Given the description of an element on the screen output the (x, y) to click on. 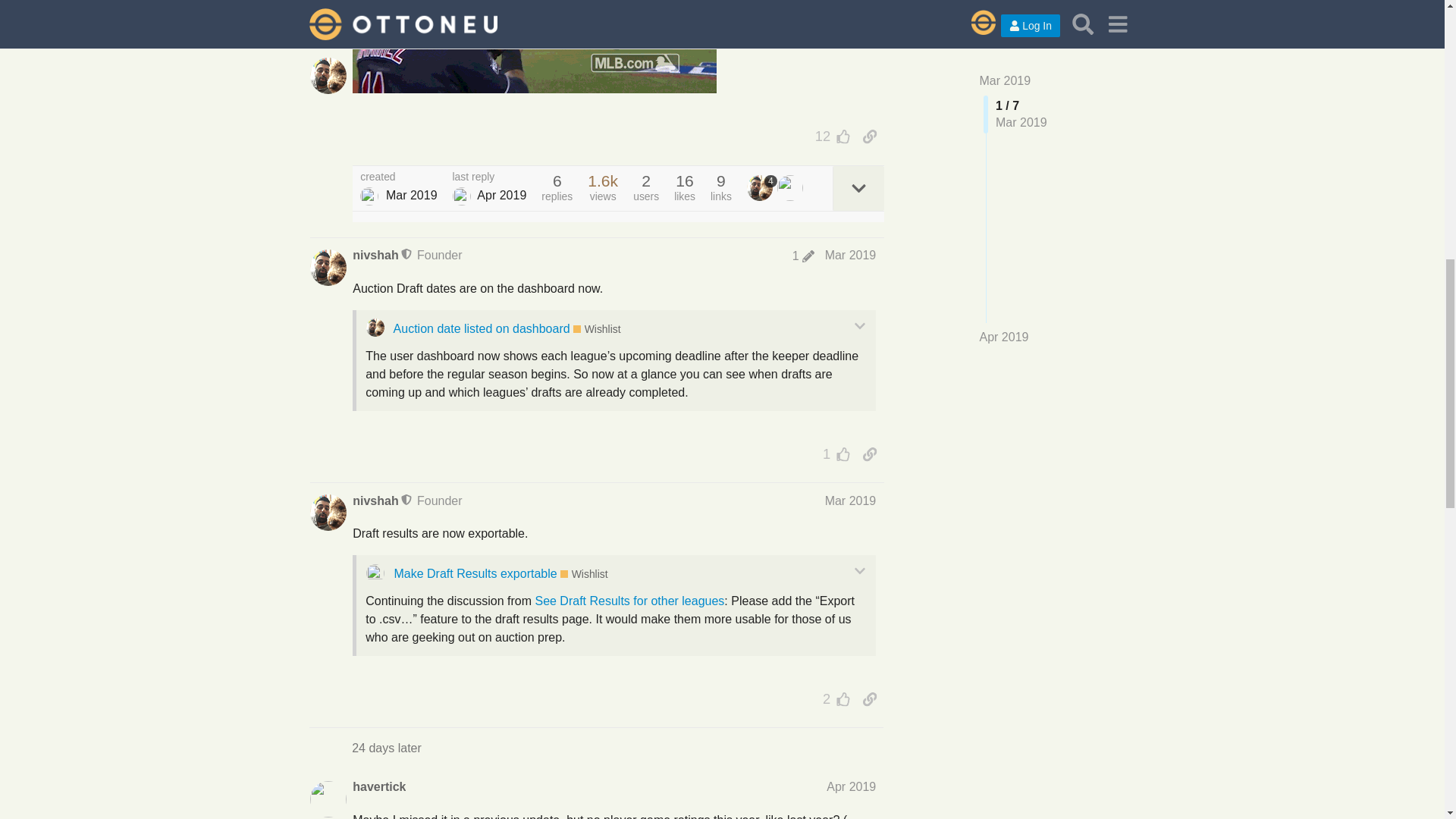
12 (829, 136)
4 (761, 187)
last reply (489, 176)
nivshah (374, 255)
